Given the description of an element on the screen output the (x, y) to click on. 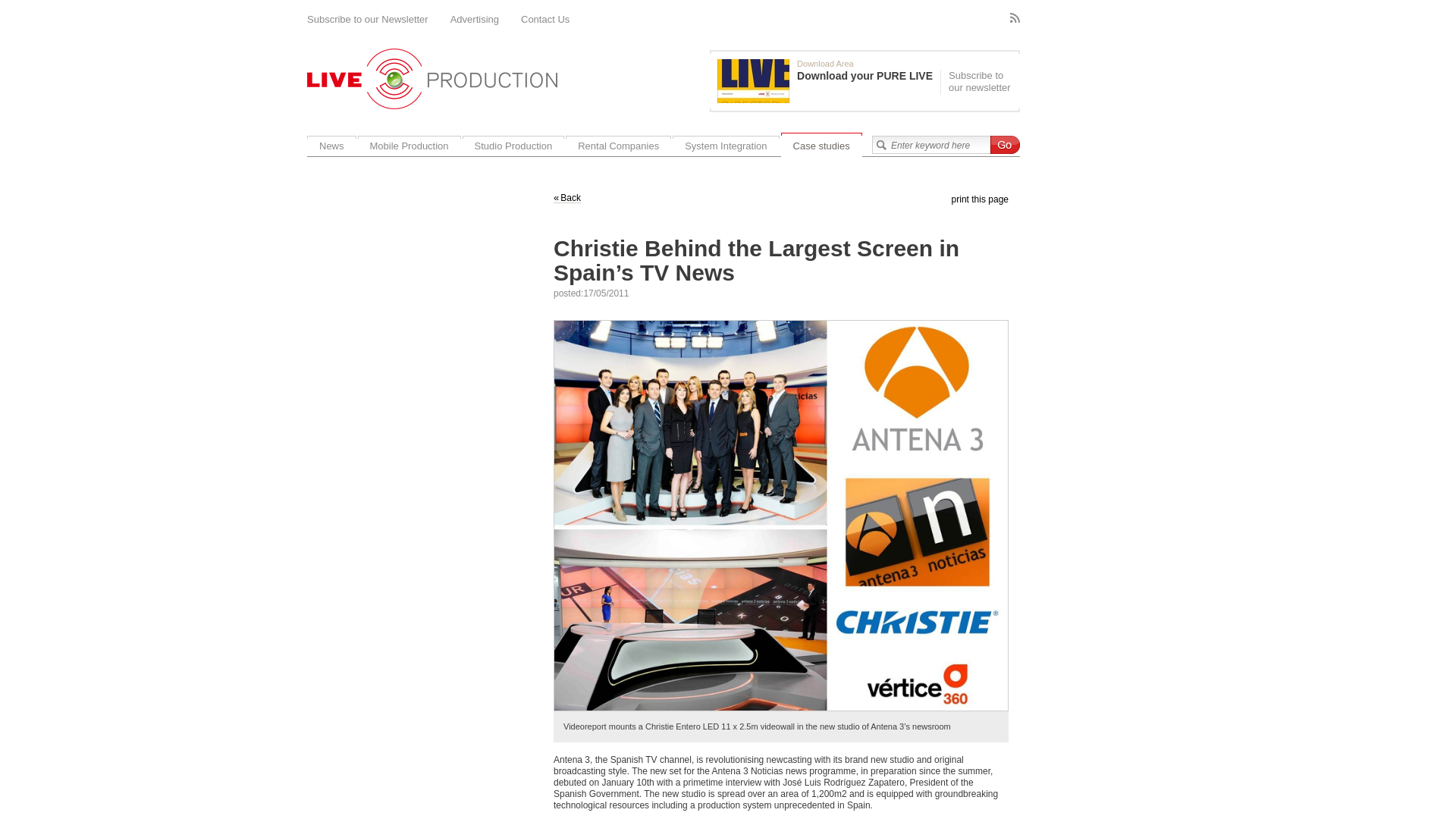
Contact Us (545, 19)
RSS (1015, 17)
Go (1005, 144)
Advertising (474, 19)
Subscribe to our newsletter (978, 82)
PURE LIVE 2018 (753, 80)
Publication (828, 80)
Subscribe to our Newsletter (367, 19)
